Given the description of an element on the screen output the (x, y) to click on. 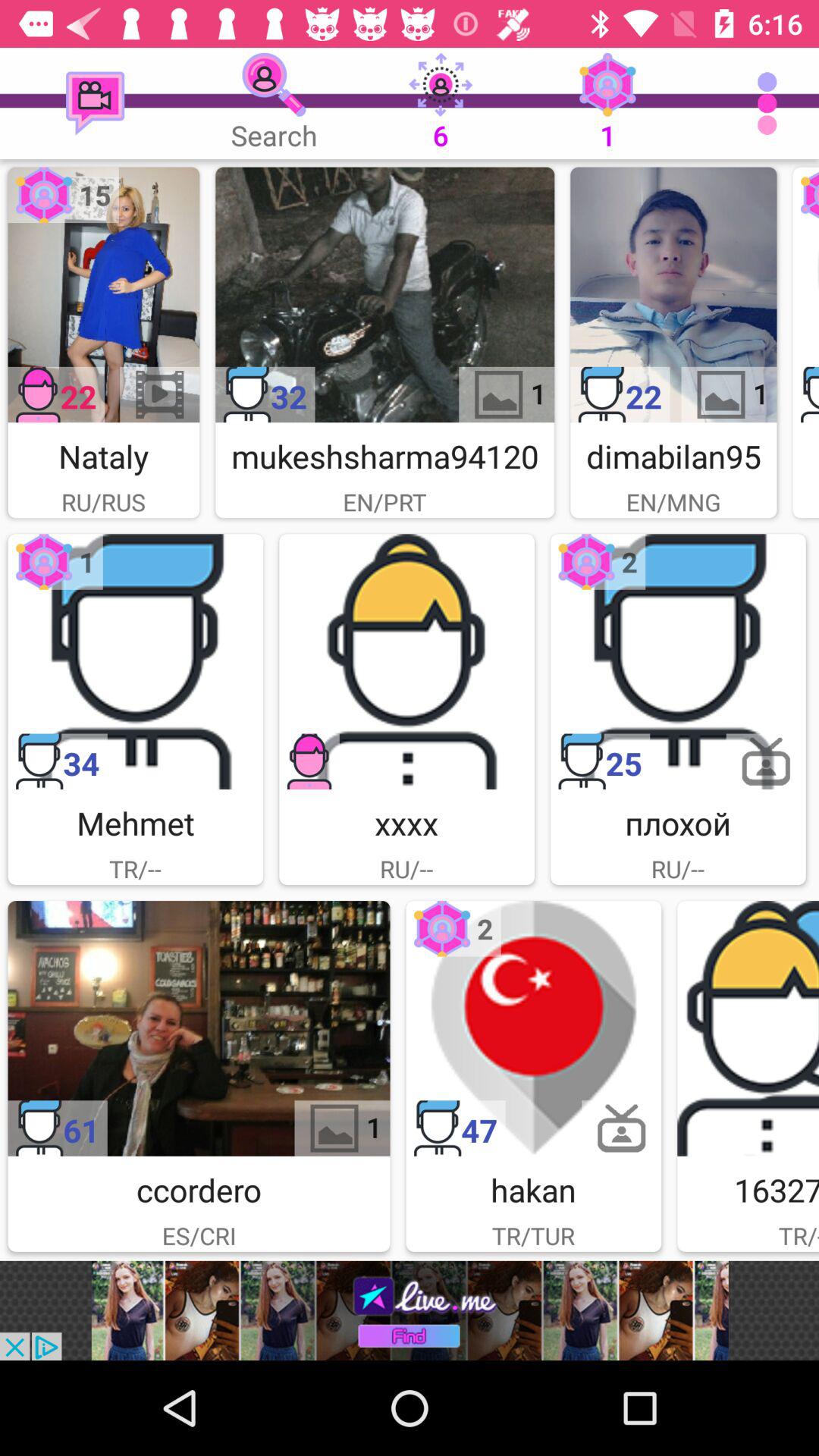
selection chioce (103, 294)
